Given the description of an element on the screen output the (x, y) to click on. 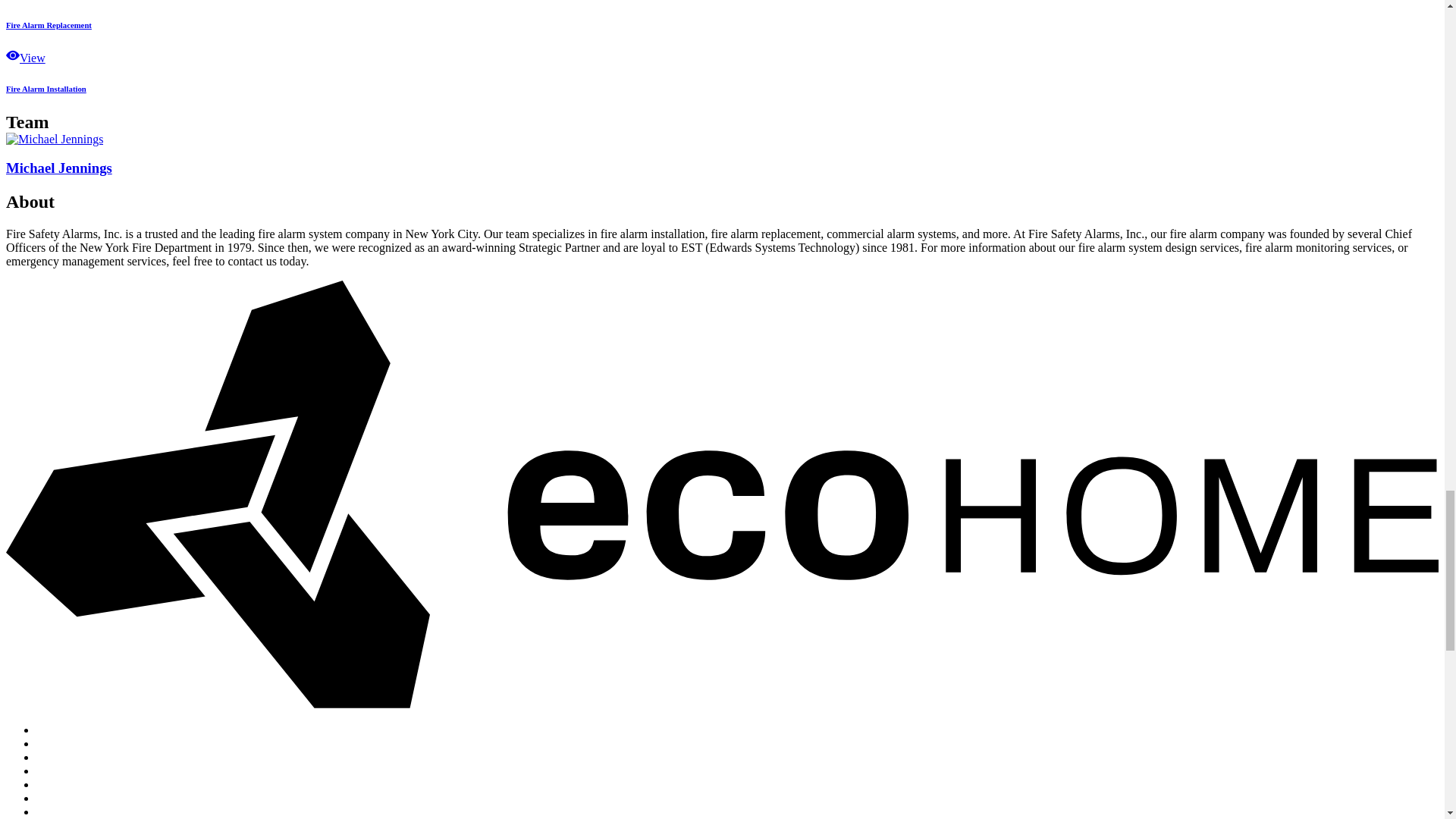
Michael Jennings (54, 138)
